Given the description of an element on the screen output the (x, y) to click on. 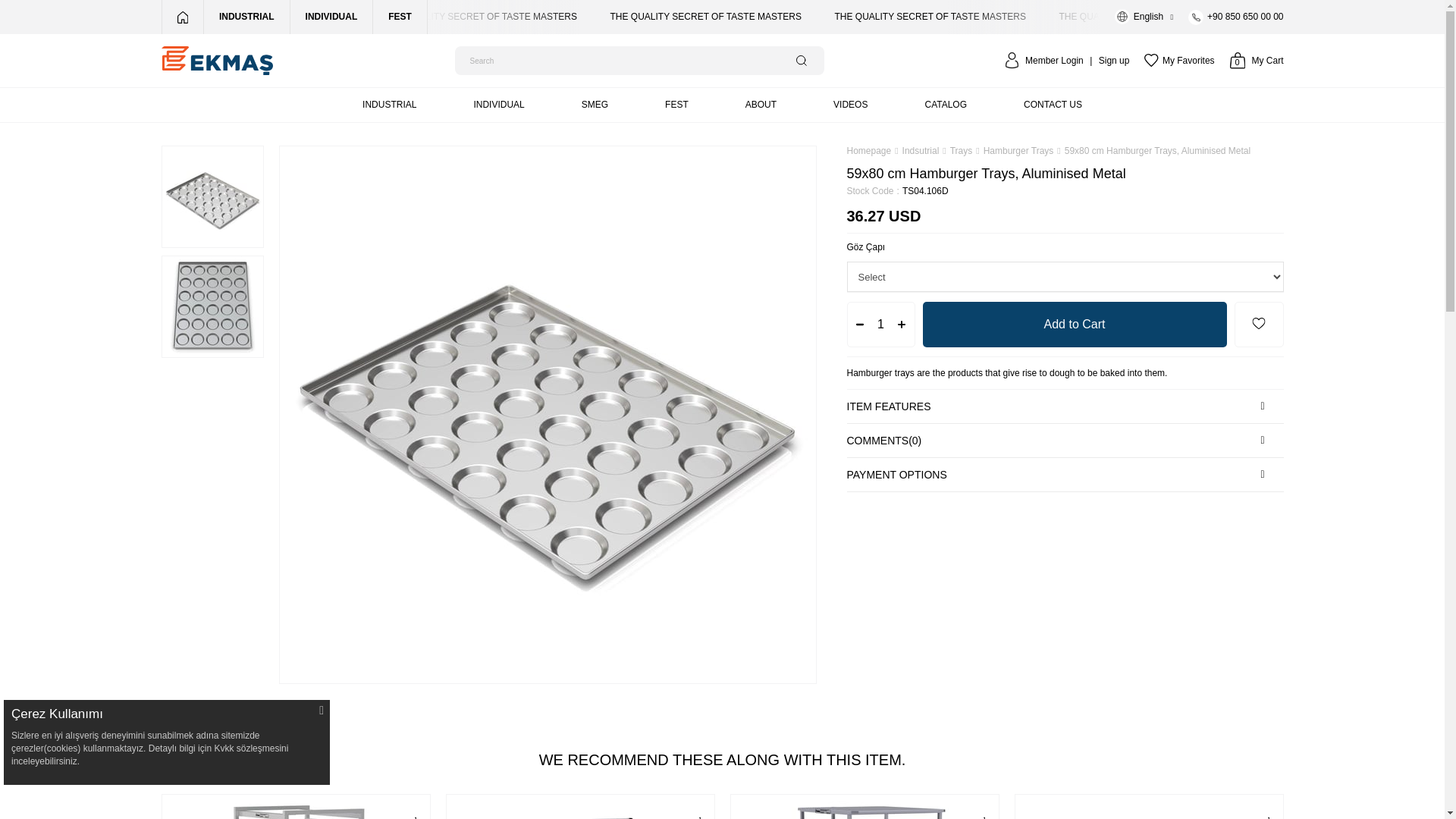
INDUSTRIAL (389, 104)
Sign up (1107, 60)
My Account (1054, 60)
INDUSTRIAL (246, 17)
Search (1257, 60)
Member Login (801, 60)
INDUSTRIAL (1054, 60)
Search (389, 104)
My Favorites (801, 60)
FEST (1179, 60)
Sign up (399, 17)
Add to Cart (1107, 60)
INDIVIDUAL (1073, 324)
1 (330, 17)
